Given the description of an element on the screen output the (x, y) to click on. 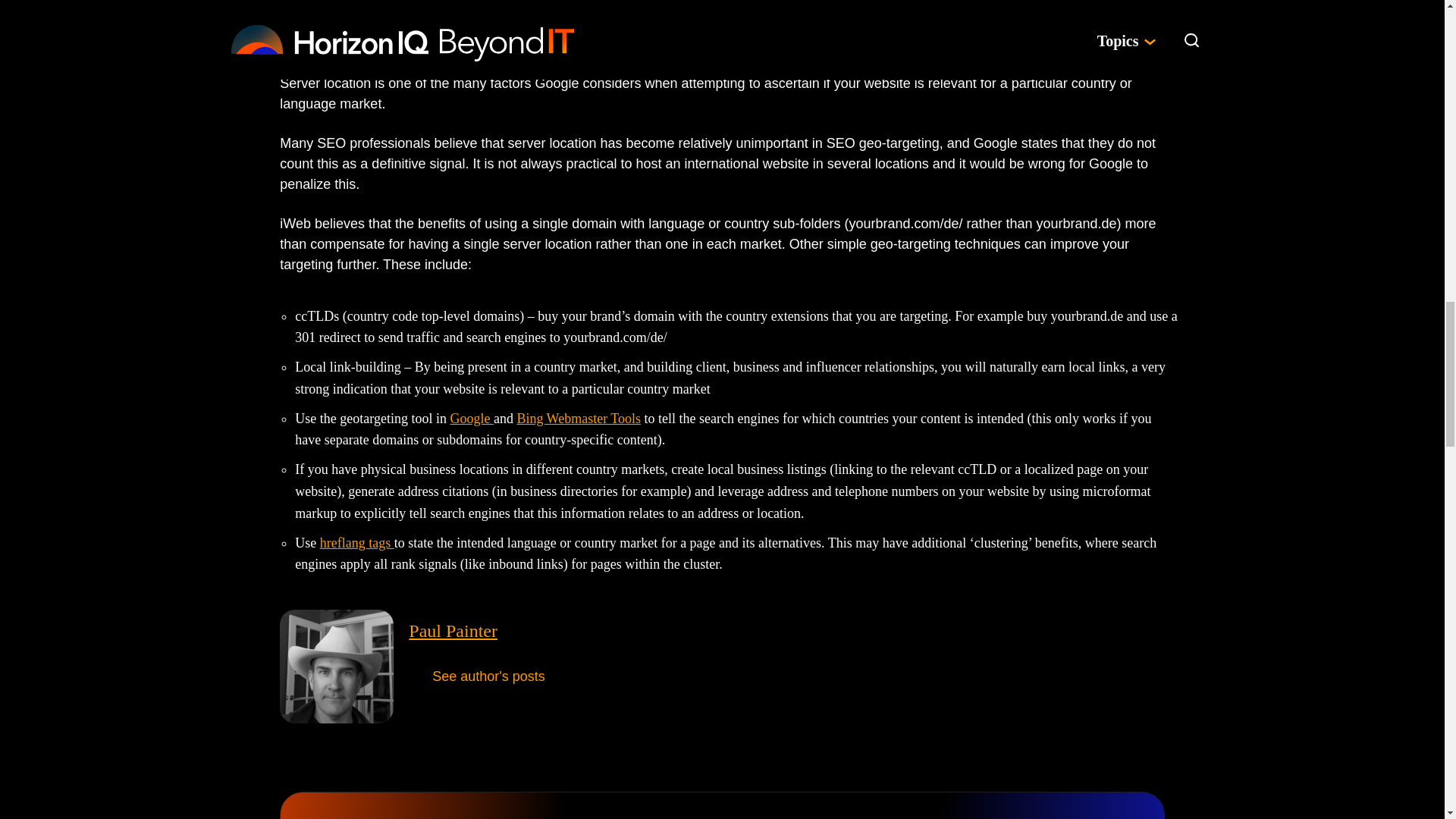
See author's posts (489, 676)
hreflang tags (357, 542)
Google (471, 418)
Paul Painter (453, 630)
Bing Webmaster Tools (578, 418)
